Given the description of an element on the screen output the (x, y) to click on. 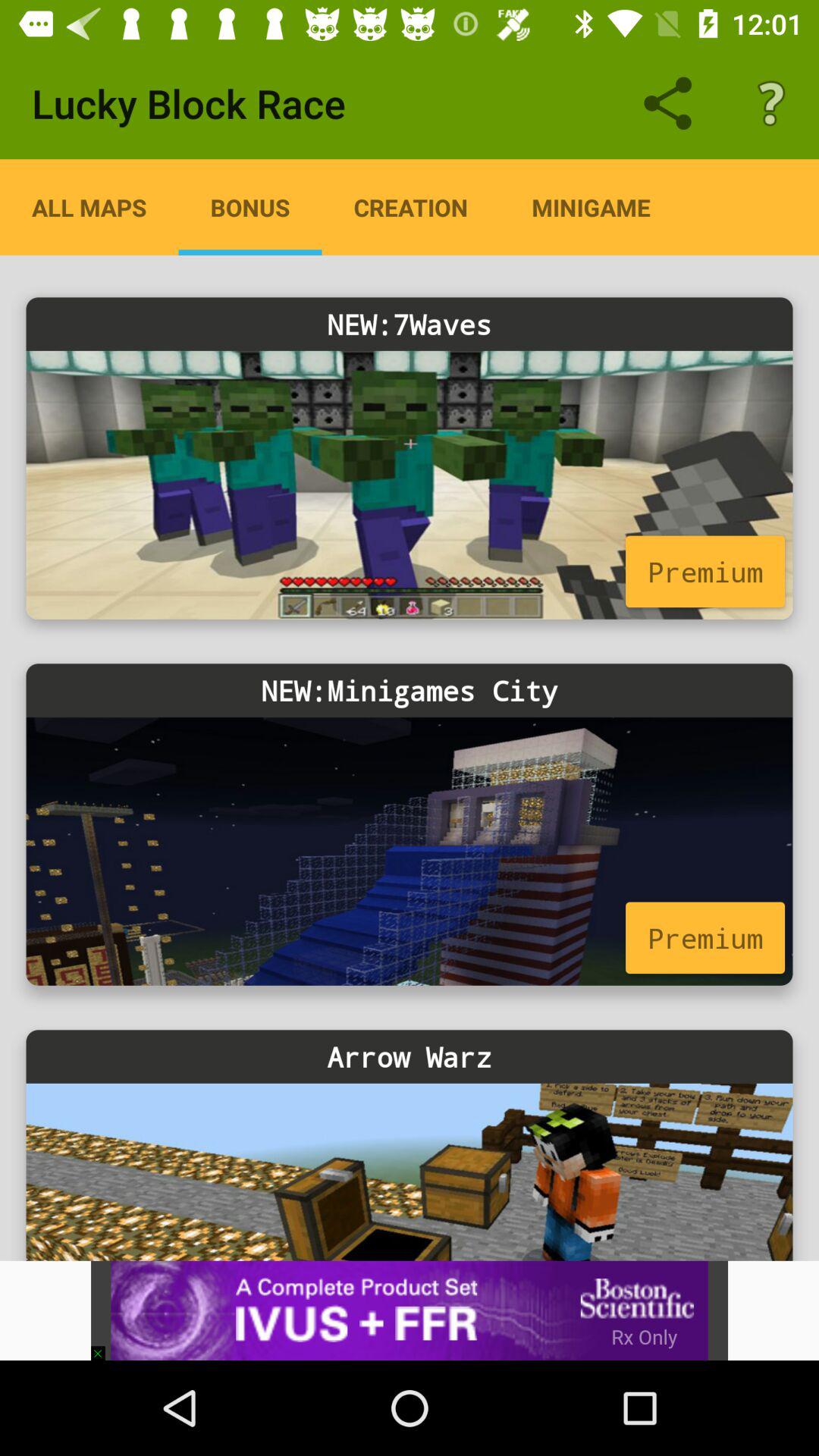
press the bonus app (249, 207)
